Given the description of an element on the screen output the (x, y) to click on. 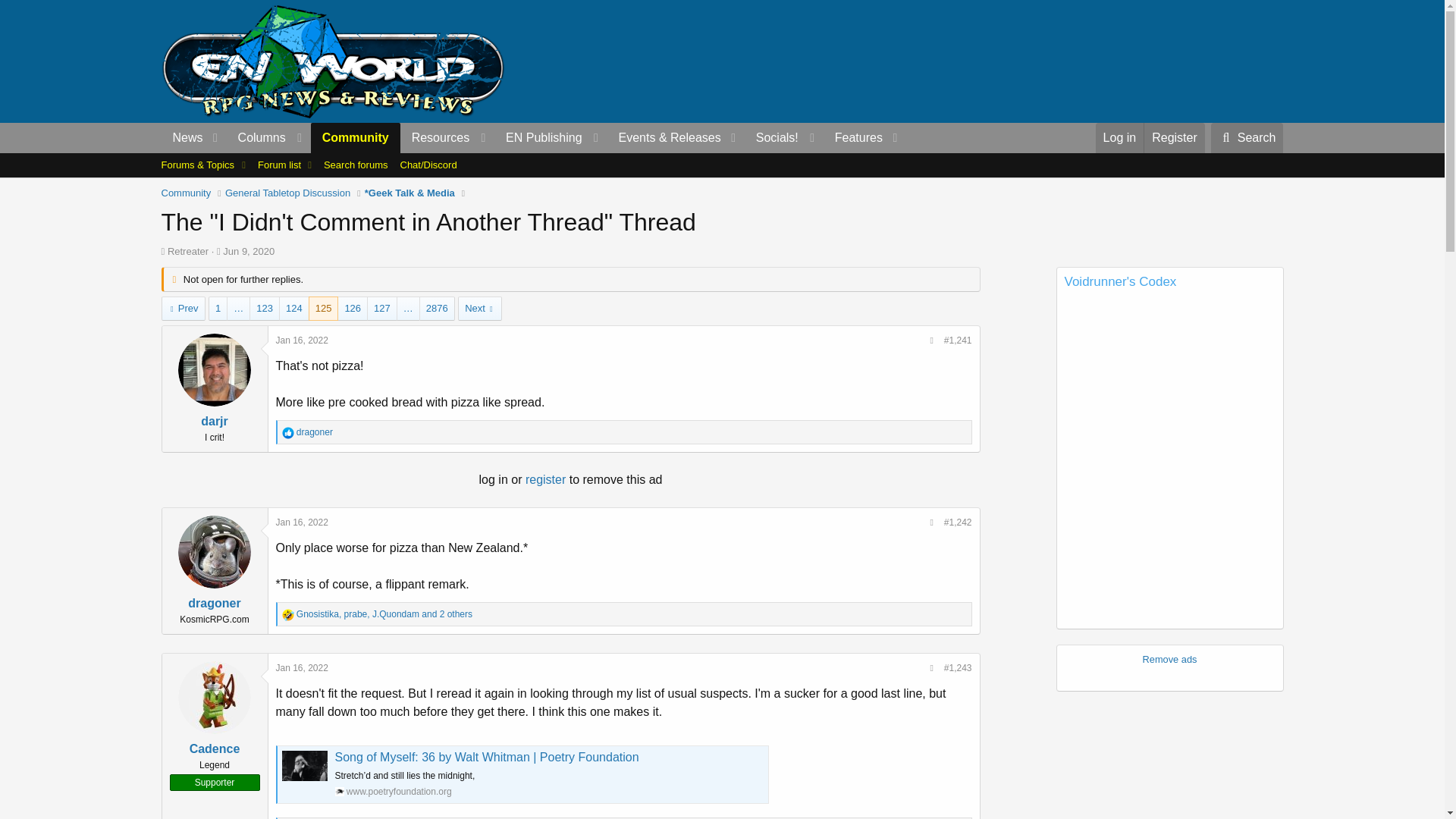
Jan 16, 2022 at 2:13 AM (302, 521)
Jun 9, 2020 at 11:12 PM (248, 251)
3rd party ad content (1006, 61)
Columns (269, 137)
News (181, 137)
Jan 16, 2022 at 2:12 AM (302, 339)
Search (1247, 137)
Like (288, 432)
Haha (288, 614)
Community (355, 137)
Jan 16, 2022 at 2:19 AM (302, 667)
